Given the description of an element on the screen output the (x, y) to click on. 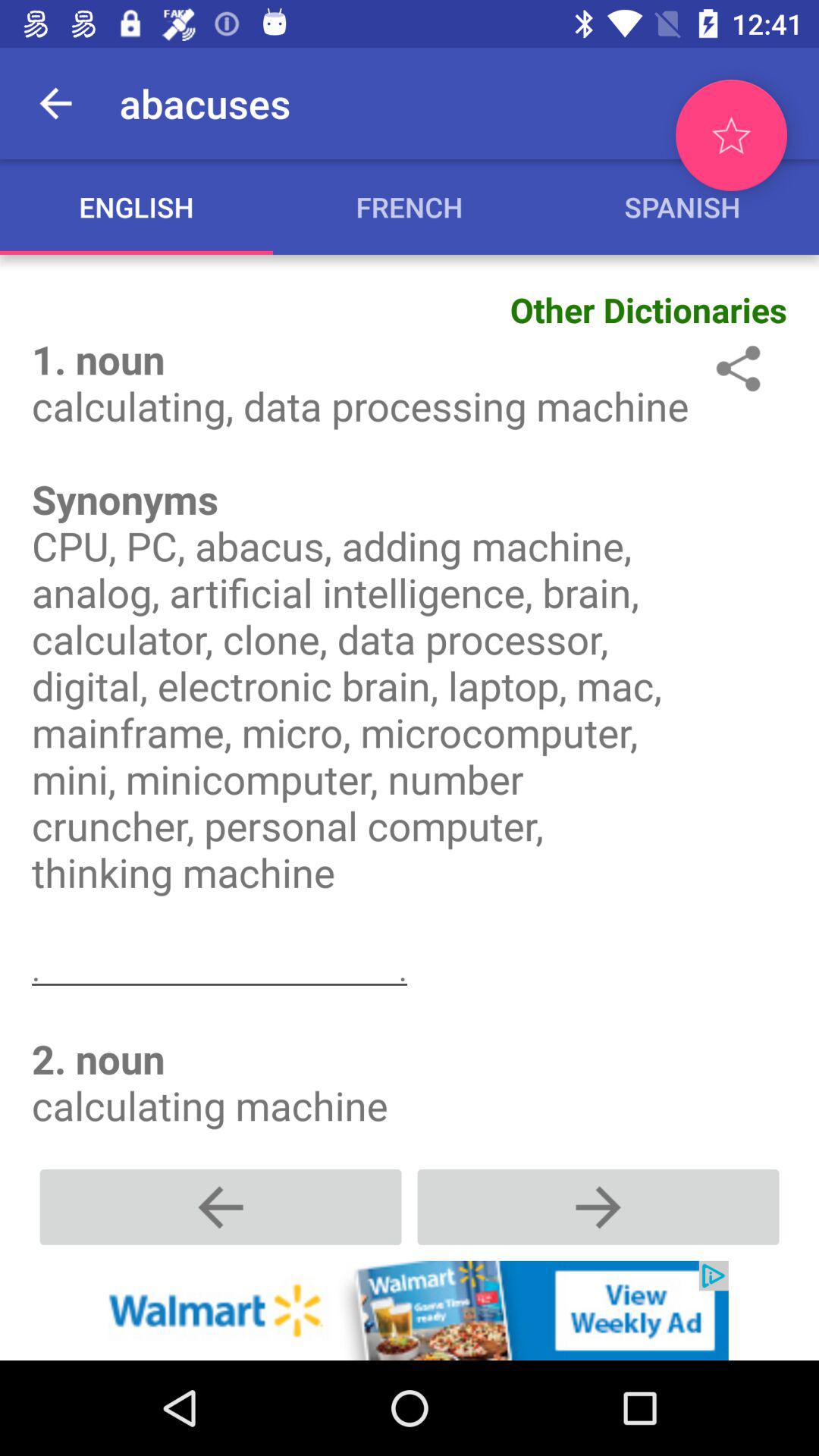
go to next (598, 1206)
